Given the description of an element on the screen output the (x, y) to click on. 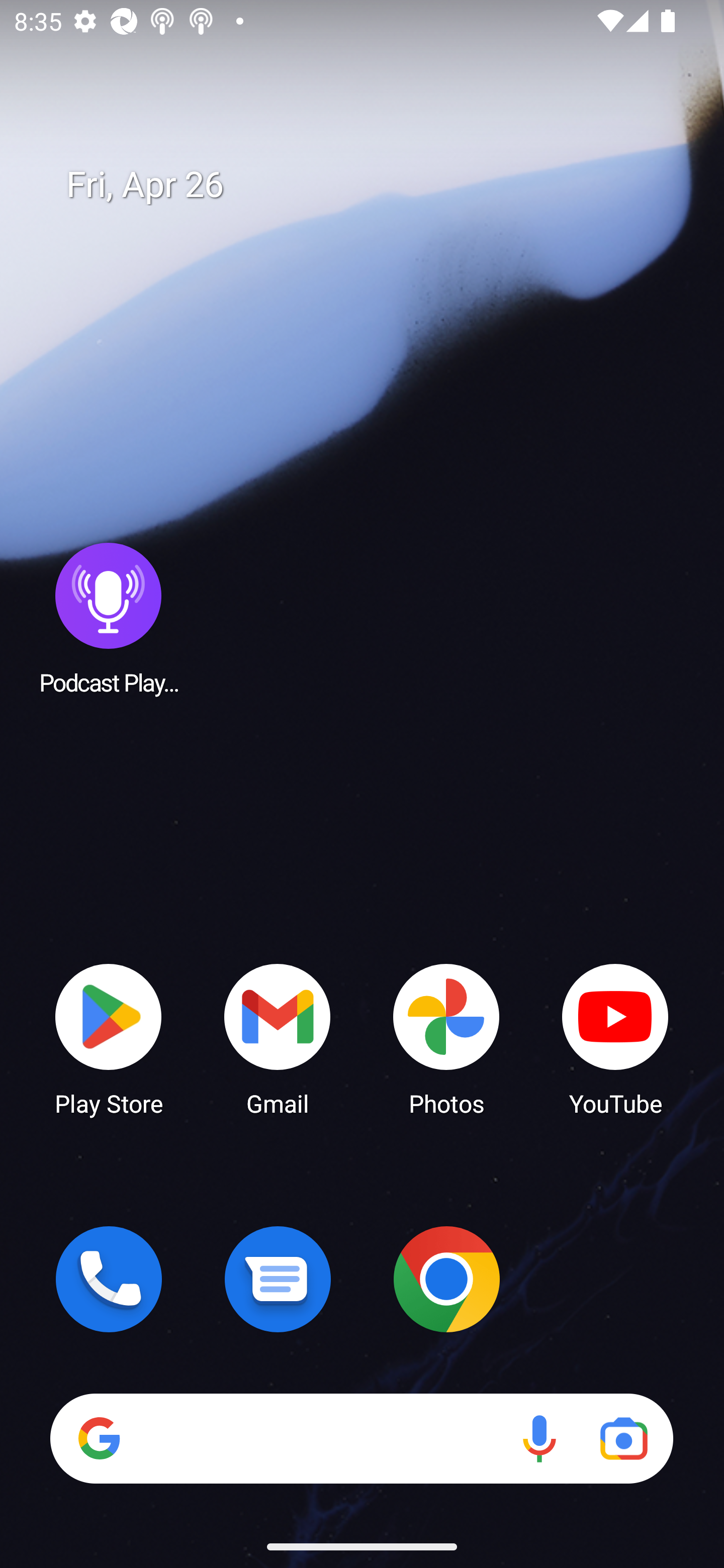
Fri, Apr 26 (375, 184)
Podcast Player (108, 617)
Play Store (108, 1038)
Gmail (277, 1038)
Photos (445, 1038)
YouTube (615, 1038)
Phone (108, 1279)
Messages (277, 1279)
Chrome (446, 1279)
Search Voice search Google Lens (361, 1438)
Voice search (539, 1438)
Google Lens (623, 1438)
